Given the description of an element on the screen output the (x, y) to click on. 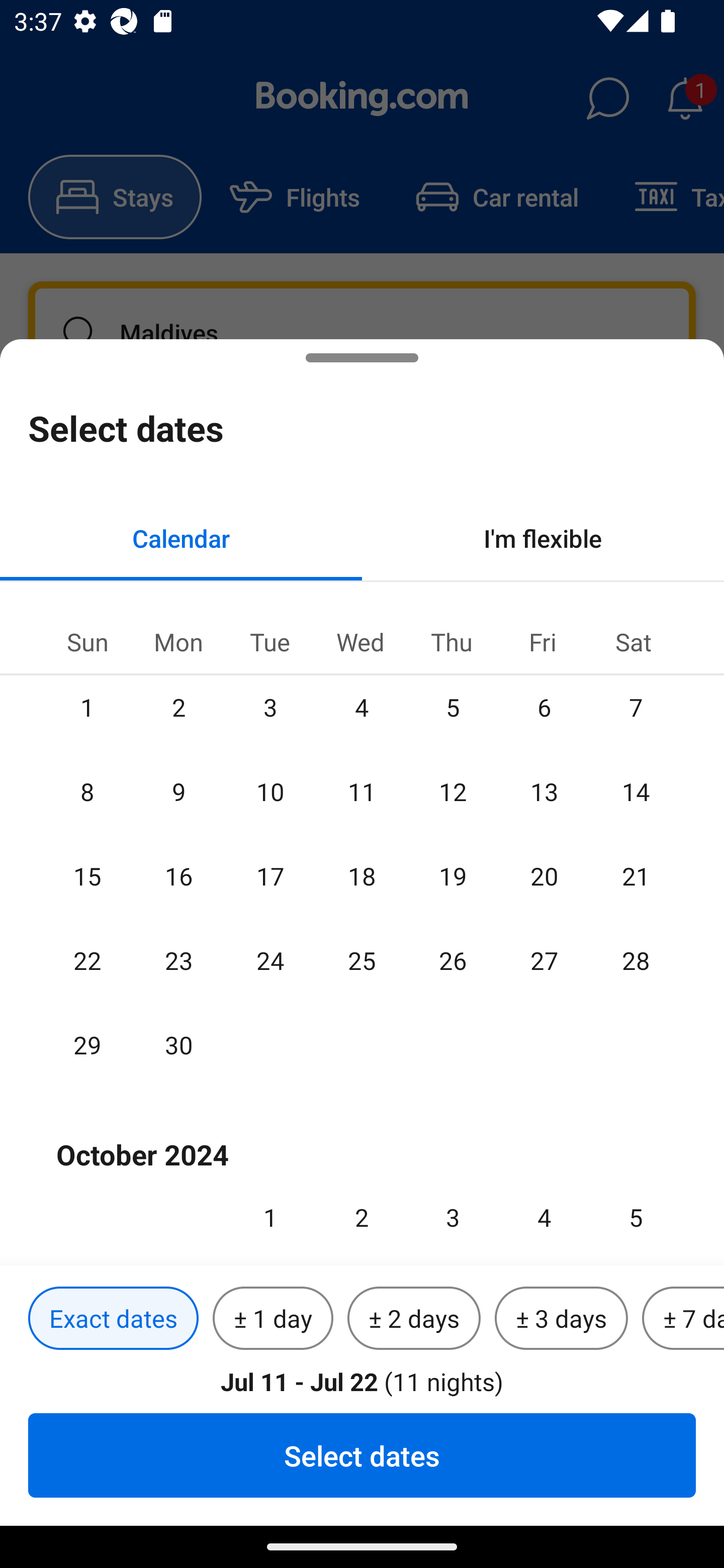
I'm flexible (543, 537)
Exact dates (113, 1318)
± 1 day (272, 1318)
± 2 days (413, 1318)
± 3 days (560, 1318)
± 7 days (683, 1318)
Select dates (361, 1454)
